Given the description of an element on the screen output the (x, y) to click on. 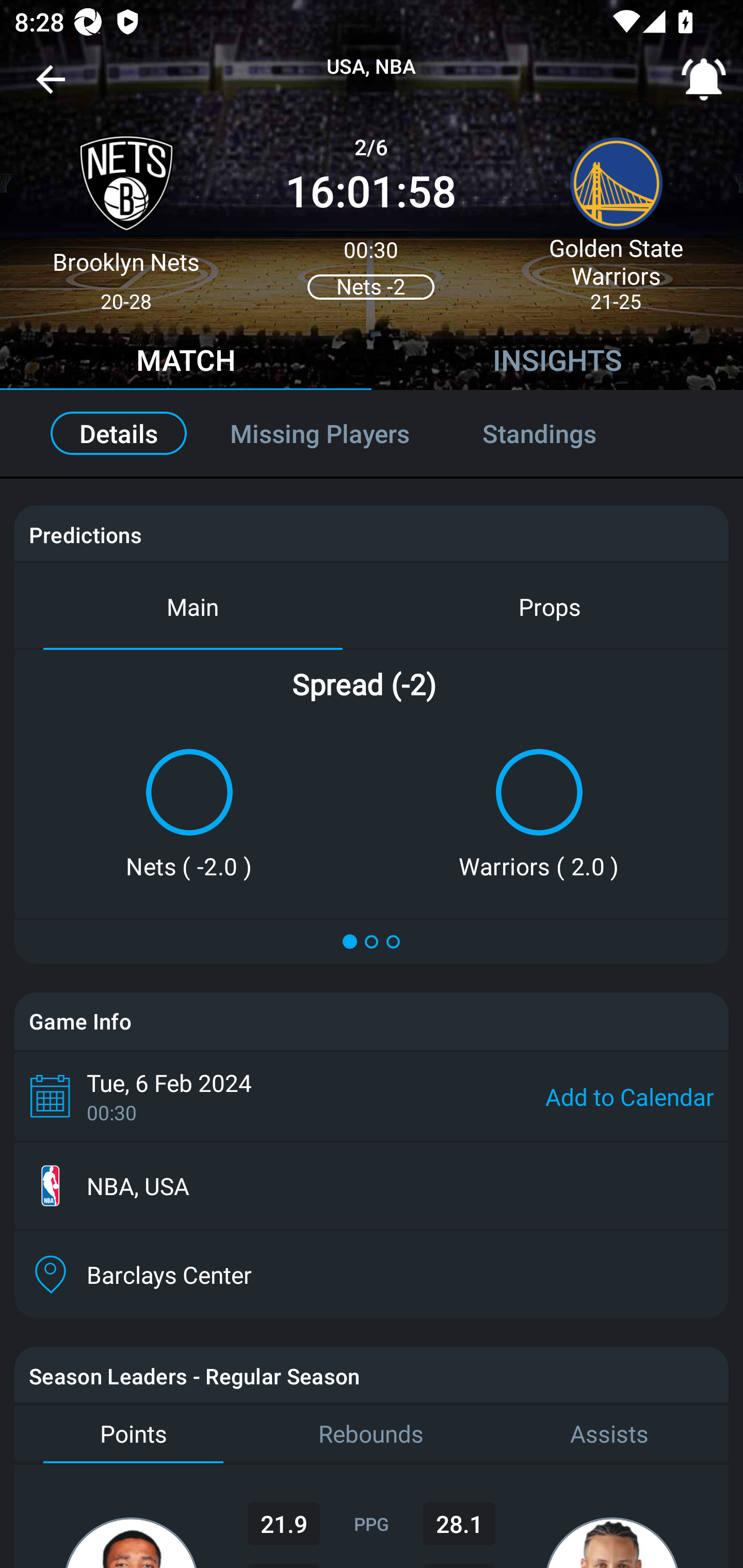
Navigate up (50, 86)
USA, NBA (371, 66)
Brooklyn Nets 20-28 (126, 214)
Golden State Warriors 21-25 (616, 214)
MATCH (185, 362)
INSIGHTS (557, 362)
Missing Players (319, 433)
Standings (561, 433)
Predictions (85, 534)
Props (549, 605)
Game Info (371, 1021)
Tue, 6 Feb 2024 00:30 Add to Calendar (371, 1095)
NBA, USA (371, 1186)
Barclays Center (371, 1273)
Rebounds (371, 1433)
Assists (609, 1433)
